Given the description of an element on the screen output the (x, y) to click on. 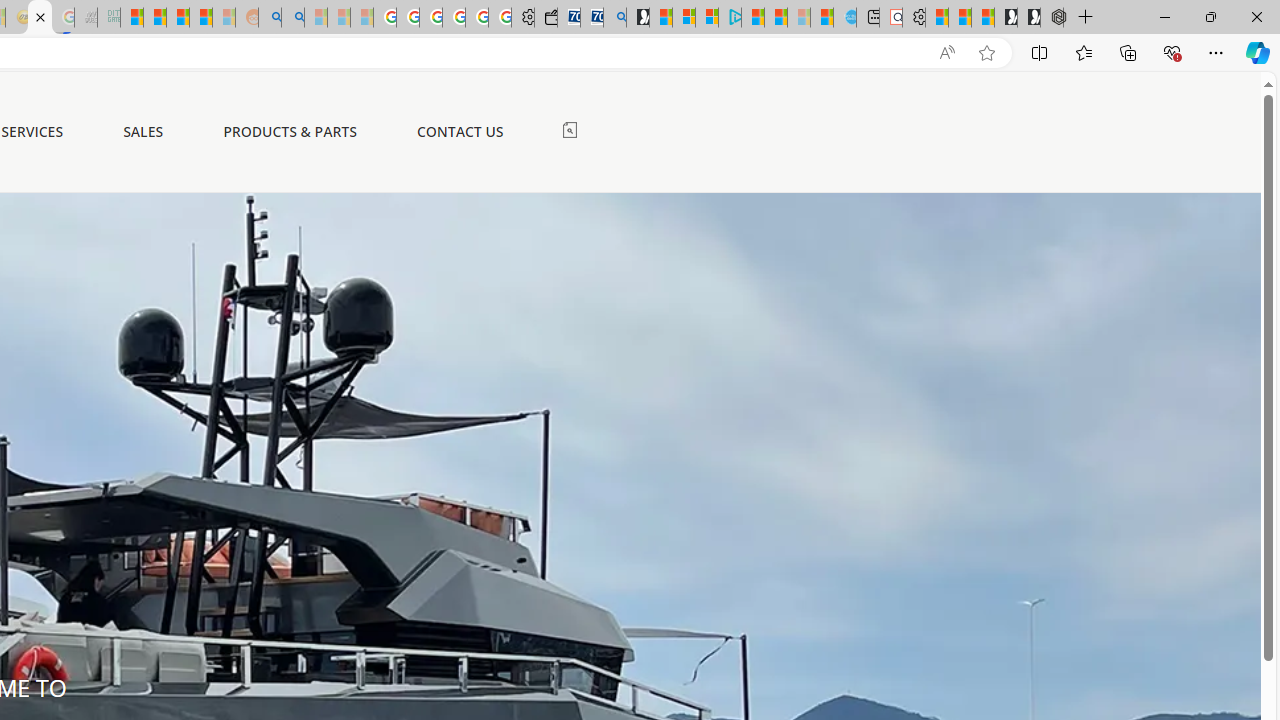
PRODUCTS & PARTS (289, 132)
Student Loan Update: Forgiveness Program Ends This Month (200, 17)
Utah sues federal government - Search (292, 17)
